Given the description of an element on the screen output the (x, y) to click on. 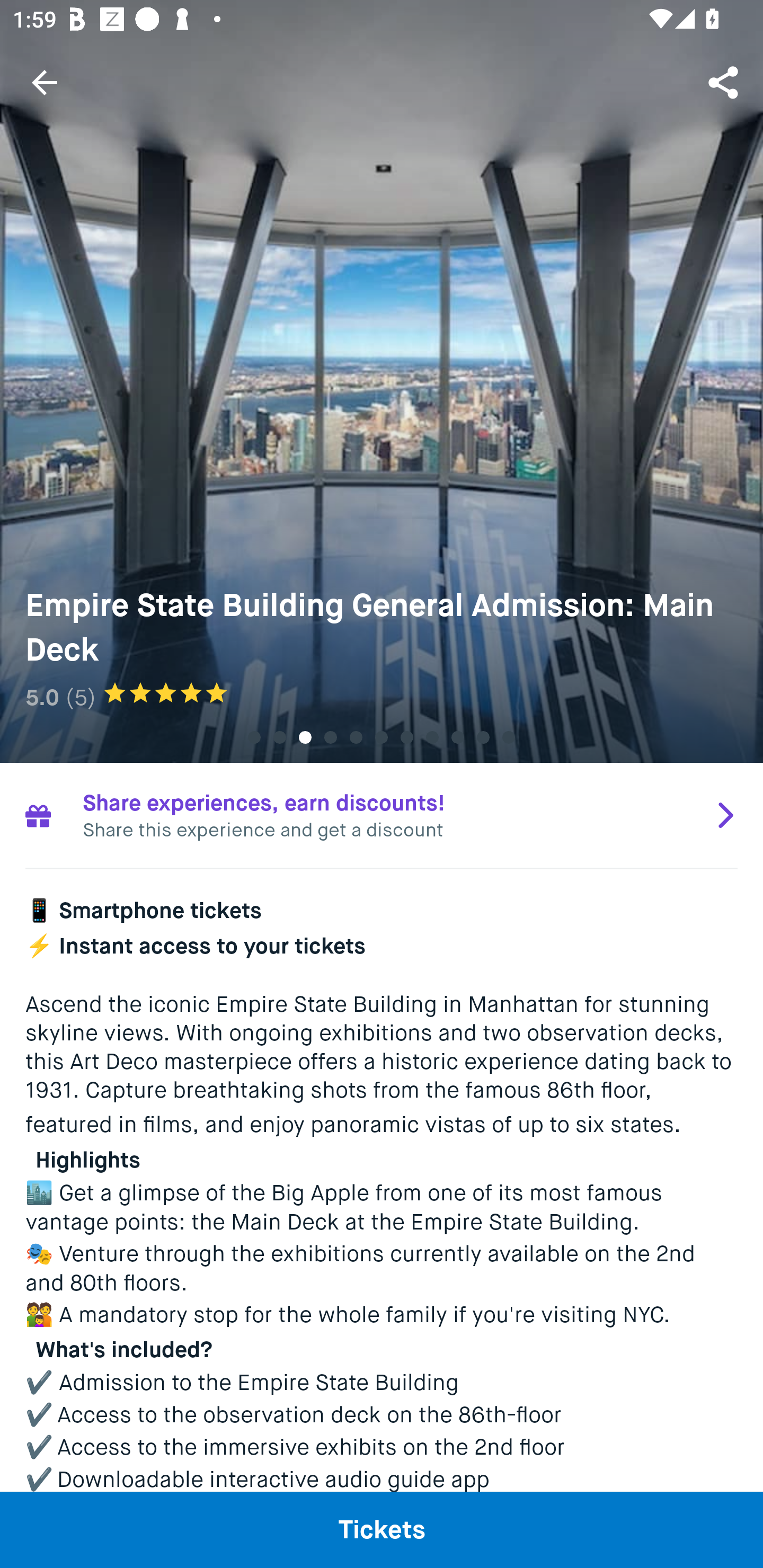
Navigate up (44, 82)
Share (724, 81)
(5) (80, 697)
Tickets (381, 1529)
